Given the description of an element on the screen output the (x, y) to click on. 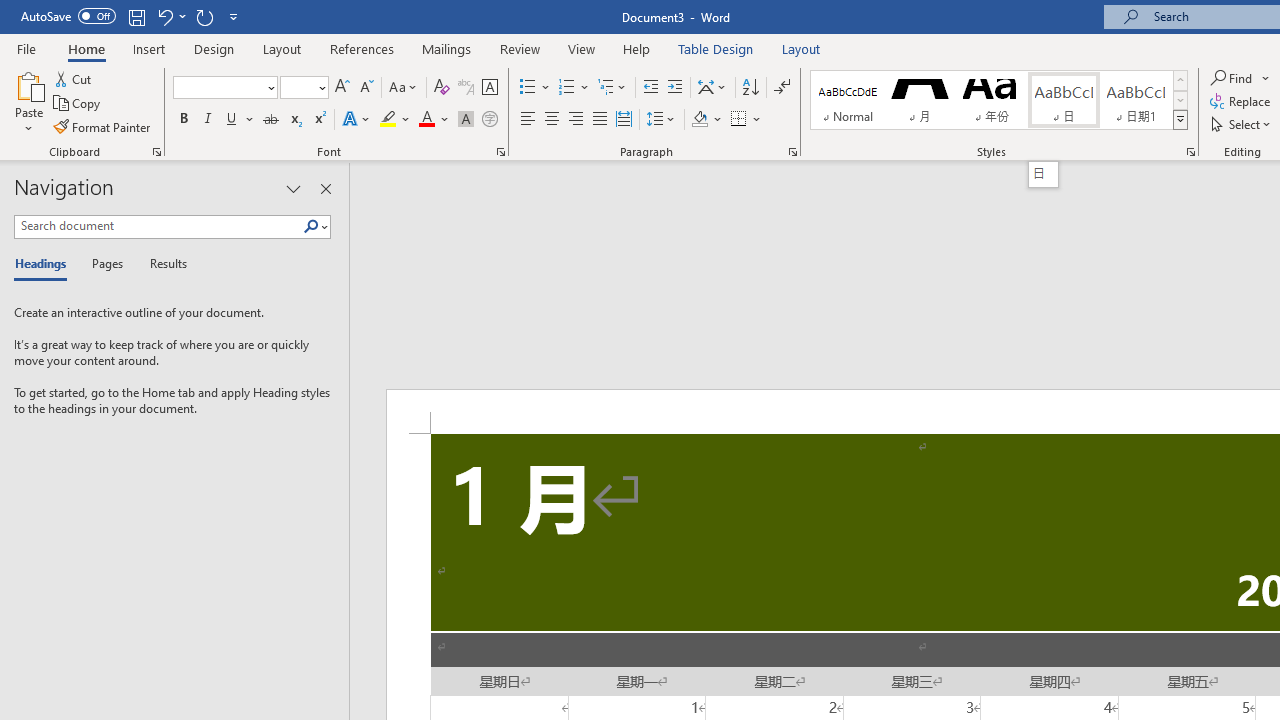
AutoSave (68, 16)
Character Border (489, 87)
Table Design (715, 48)
Text Highlight Color (395, 119)
Multilevel List (613, 87)
References (362, 48)
Grow Font (342, 87)
Task Pane Options (293, 188)
Justify (599, 119)
Office Clipboard... (156, 151)
Paragraph... (792, 151)
Line and Paragraph Spacing (661, 119)
Enclose Characters... (489, 119)
Design (214, 48)
